Given the description of an element on the screen output the (x, y) to click on. 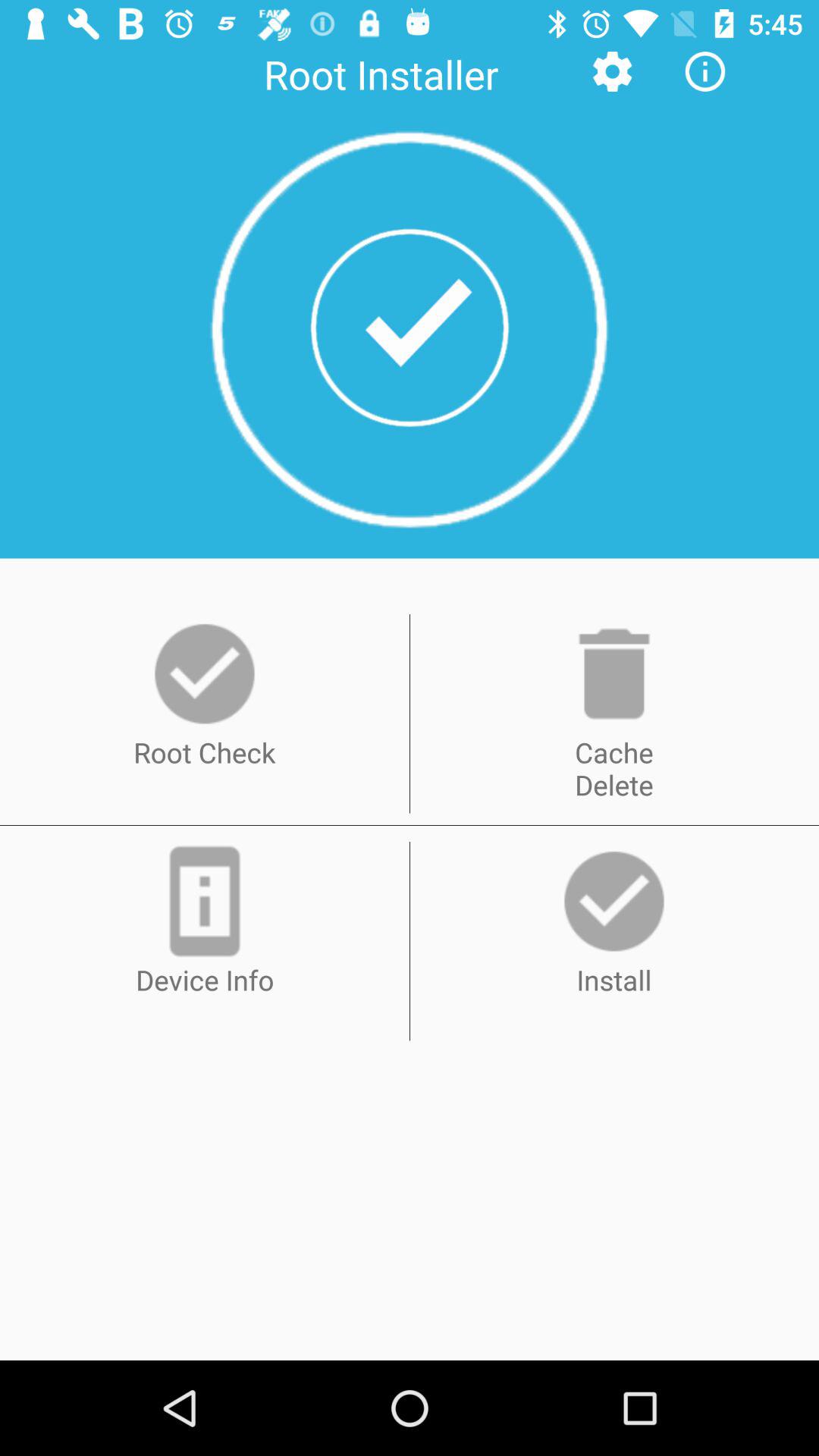
select the option beside install (204, 900)
click on the image below root installer (409, 329)
click on the image below root installer (409, 327)
select the root check above right mark icon (204, 673)
click on the info icon (705, 72)
